Given the description of an element on the screen output the (x, y) to click on. 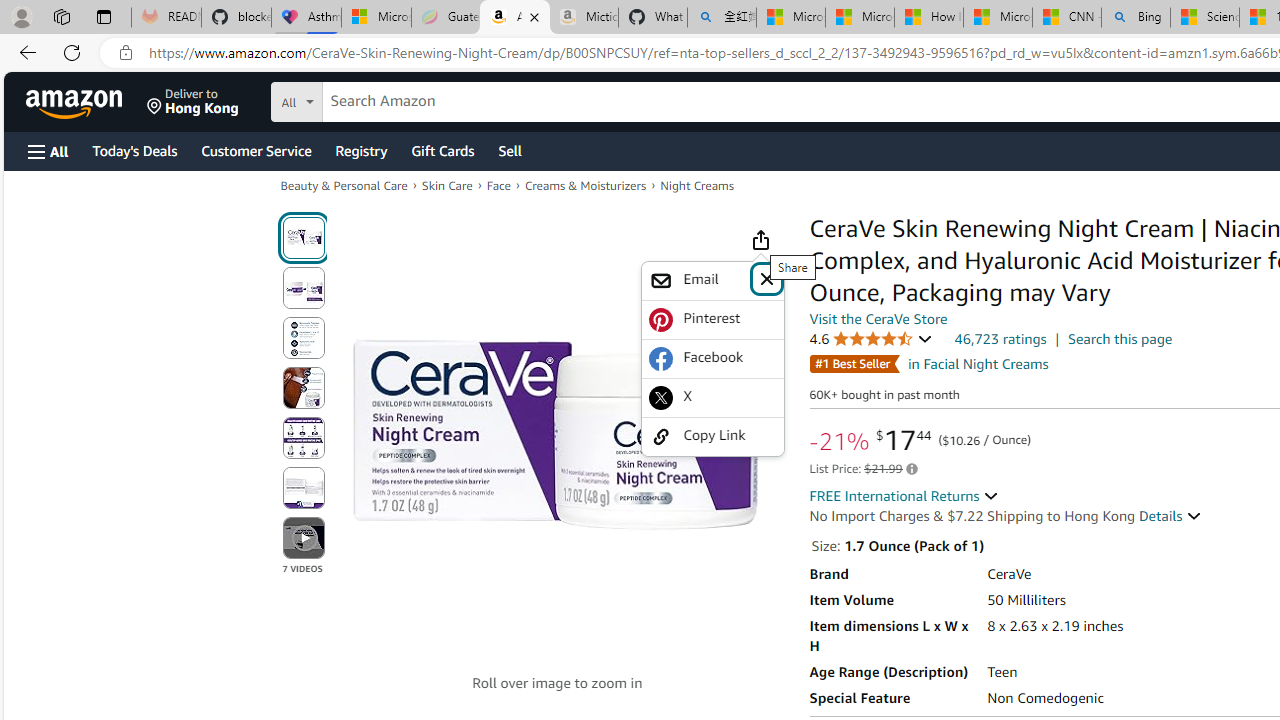
Email (698, 280)
Email (712, 280)
Copy Link (712, 435)
How I Got Rid of Microsoft Edge's Unnecessary Features (928, 17)
Facebook (711, 358)
Facebook (712, 358)
Pinterest (711, 318)
